Given the description of an element on the screen output the (x, y) to click on. 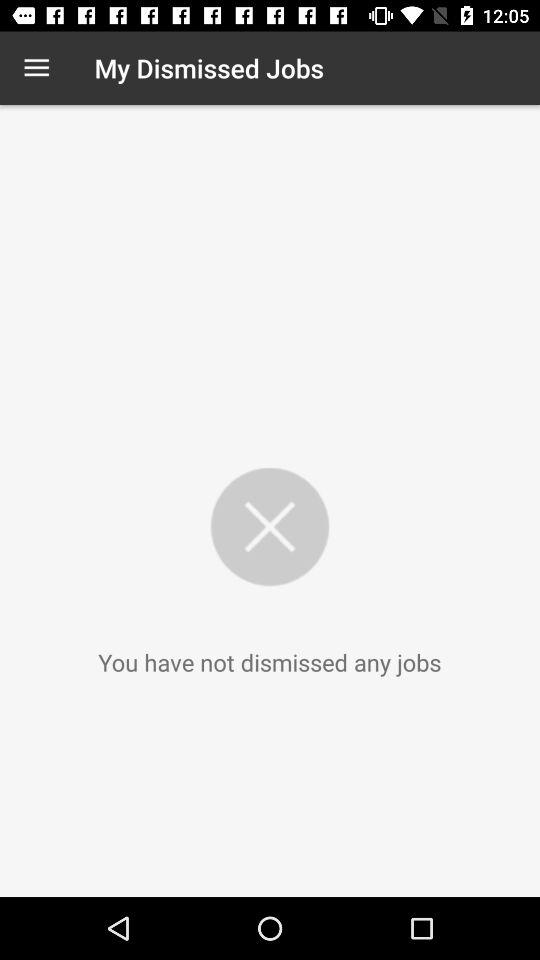
press icon next to the my dismissed jobs icon (36, 68)
